Given the description of an element on the screen output the (x, y) to click on. 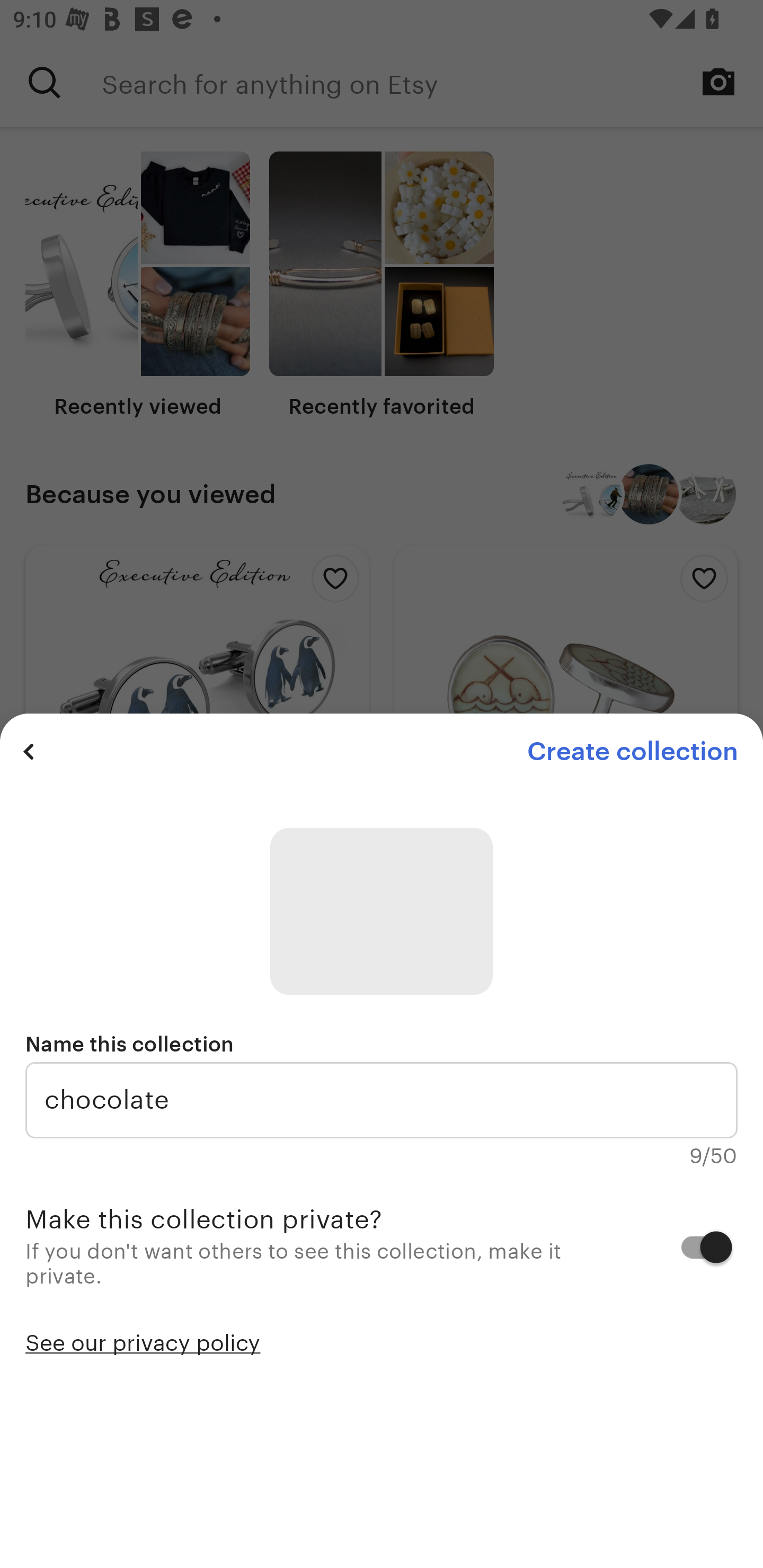
Previous (28, 751)
Create collection (632, 751)
chocolate (381, 1099)
See our privacy policy (142, 1341)
